Given the description of an element on the screen output the (x, y) to click on. 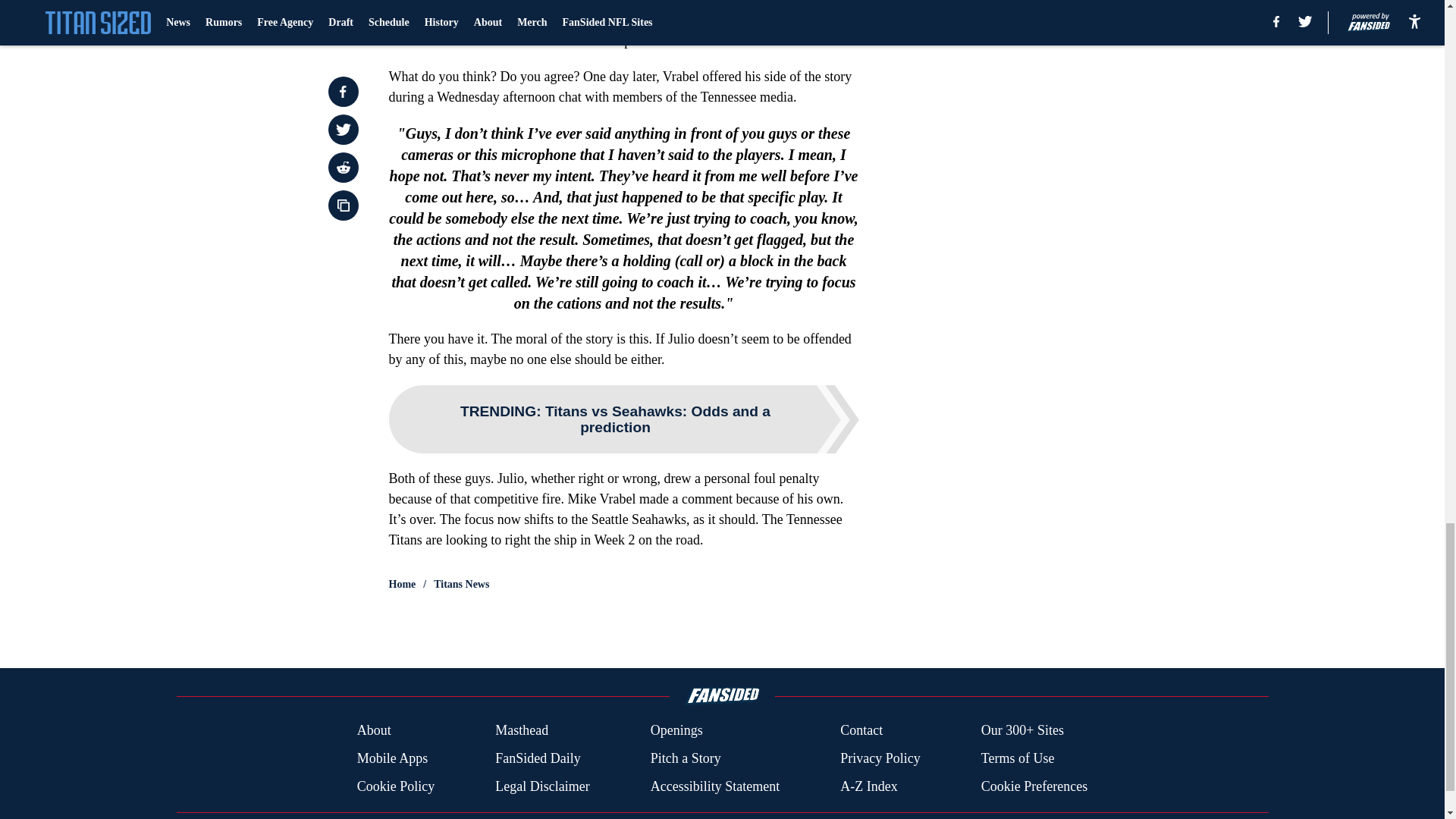
Terms of Use (1017, 758)
Legal Disclaimer (542, 786)
Mobile Apps (392, 758)
Masthead (521, 730)
Openings (676, 730)
Cookie Policy (395, 786)
Accessibility Statement (714, 786)
Home (401, 584)
Pitch a Story (685, 758)
FanSided Daily (537, 758)
